Given the description of an element on the screen output the (x, y) to click on. 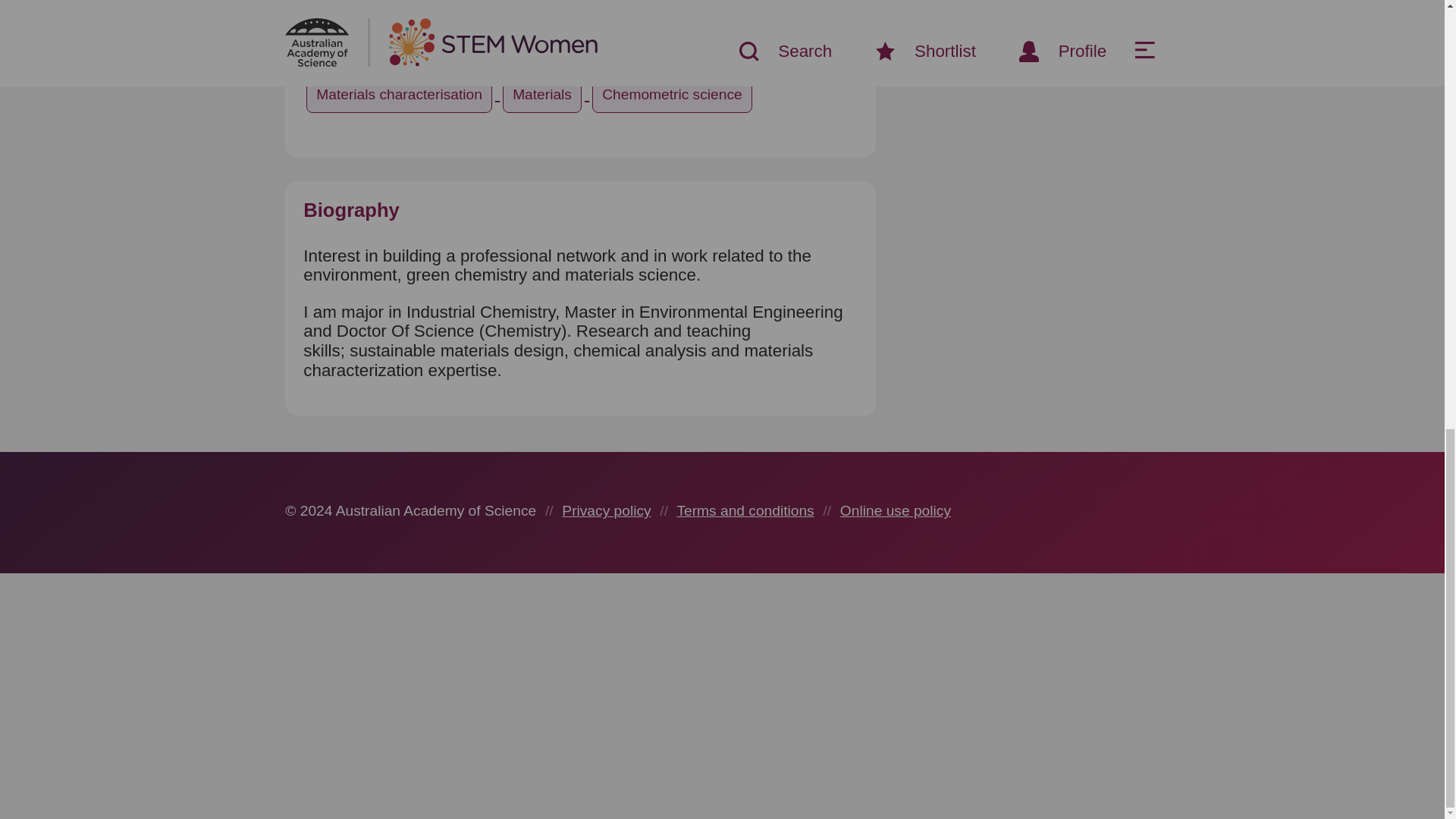
Materials (544, 93)
Online use policy (895, 510)
Environmental chemistry (397, 49)
Materials characterisation (400, 93)
Chemometric science (671, 93)
Chemical sciences (725, 49)
Analytical chemistry (572, 49)
Privacy policy (606, 510)
Terms and conditions (745, 510)
